Given the description of an element on the screen output the (x, y) to click on. 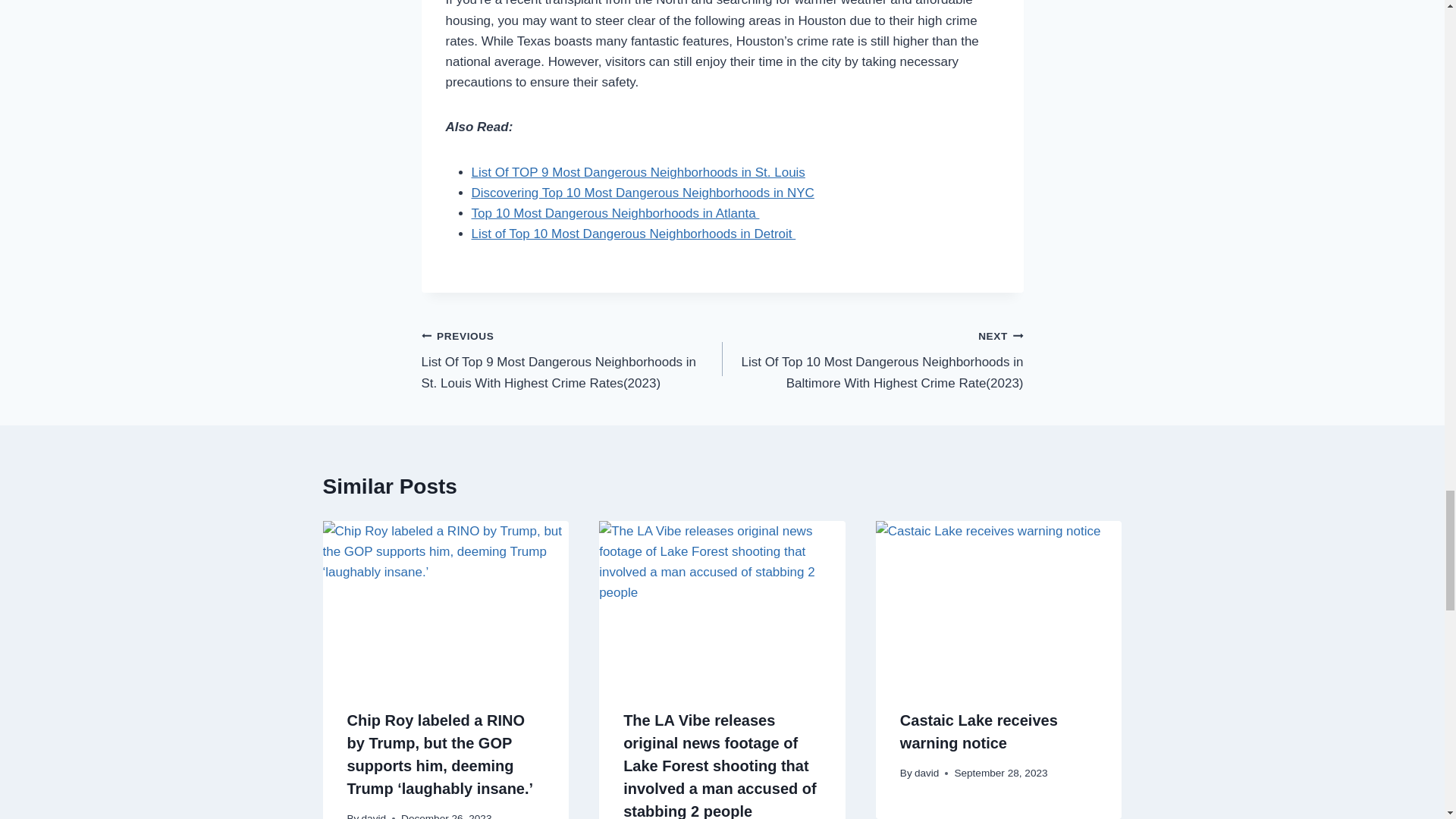
Discovering Top 10 Most Dangerous Neighborhoods in NYC (642, 192)
david (374, 816)
Castaic Lake receives warning notice (978, 731)
david (926, 772)
List Of TOP 9 Most Dangerous Neighborhoods in St. Louis (638, 172)
List of Top 10 Most Dangerous Neighborhoods in Detroit  (633, 233)
Top 10 Most Dangerous Neighborhoods in Atlanta  (615, 213)
